Given the description of an element on the screen output the (x, y) to click on. 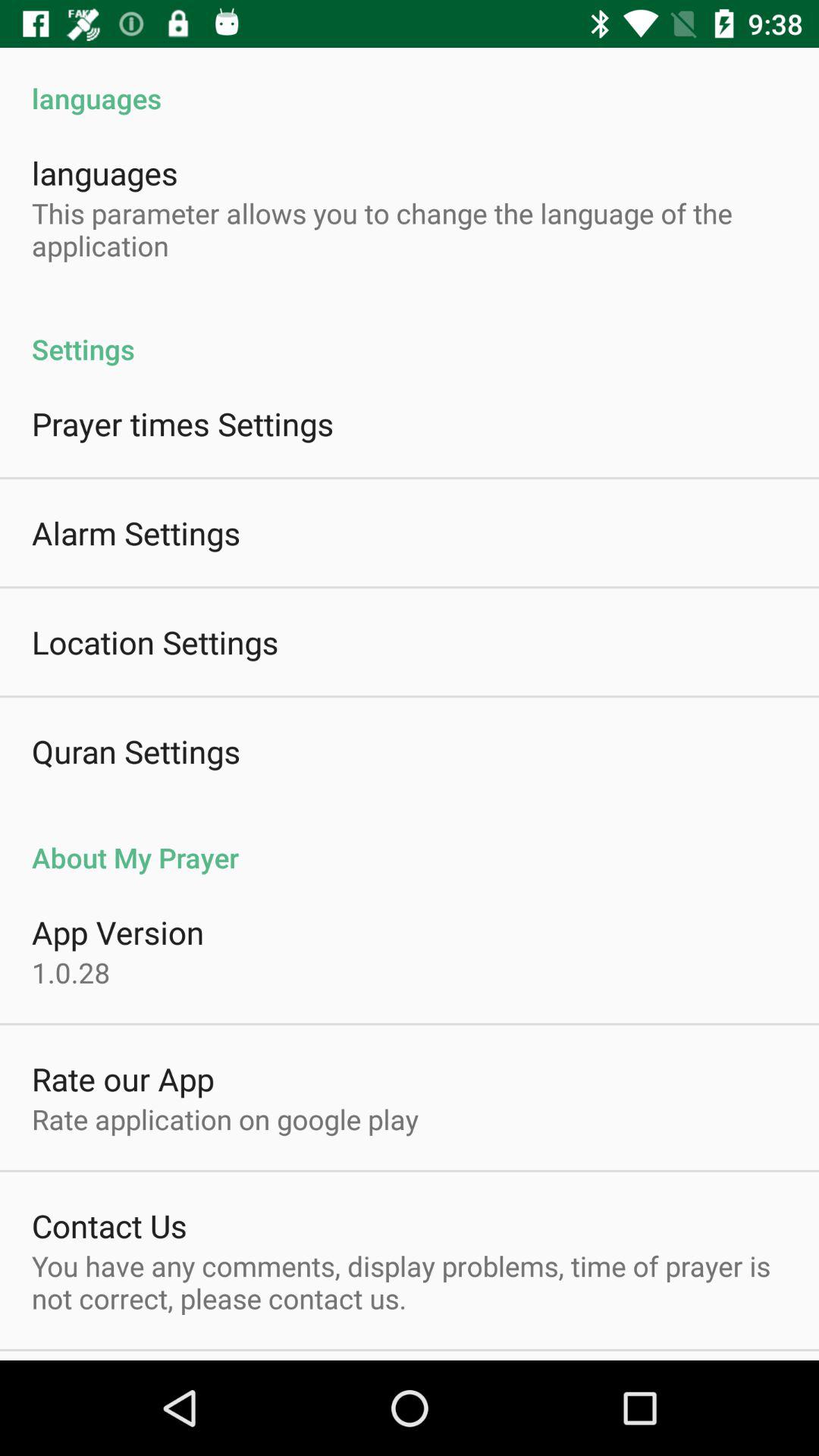
choose item below about my prayer (117, 931)
